Given the description of an element on the screen output the (x, y) to click on. 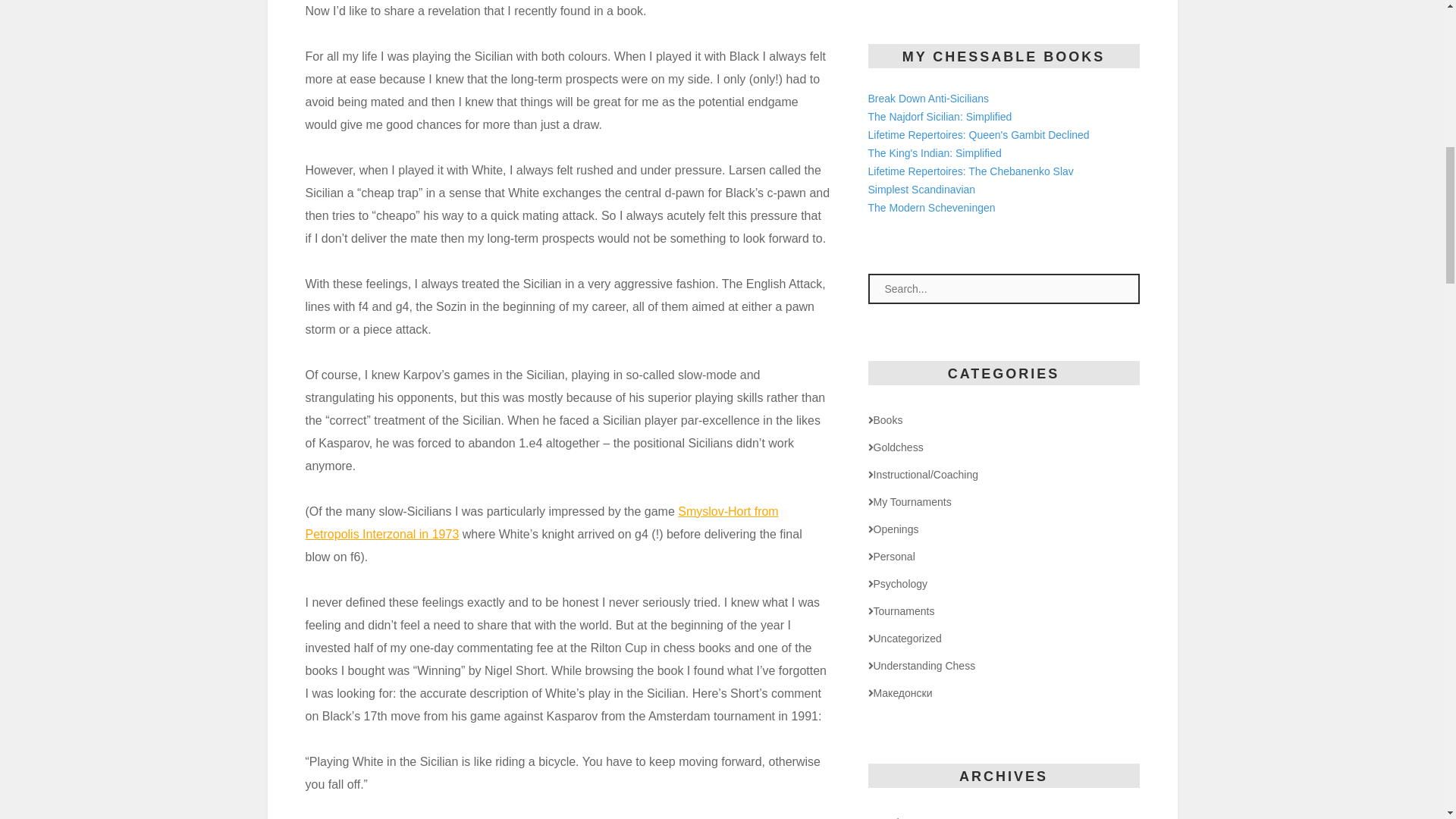
Lifetime Repertoires: The Chebanenko Slav (970, 171)
The Modern Scheveningen (930, 207)
Break Down Anti-Sicilians (927, 98)
Lifetime Repertoires: Queen's Gambit Declined (978, 134)
Simplest Scandinavian (921, 189)
Books (884, 419)
My Tournaments (908, 501)
The King's Indian: Simplified (934, 152)
The Najdorf Sicilian: Simplified (939, 116)
Goldchess (895, 447)
Smyslov-Hort from Petropolis Interzonal in 1973 (540, 522)
